Given the description of an element on the screen output the (x, y) to click on. 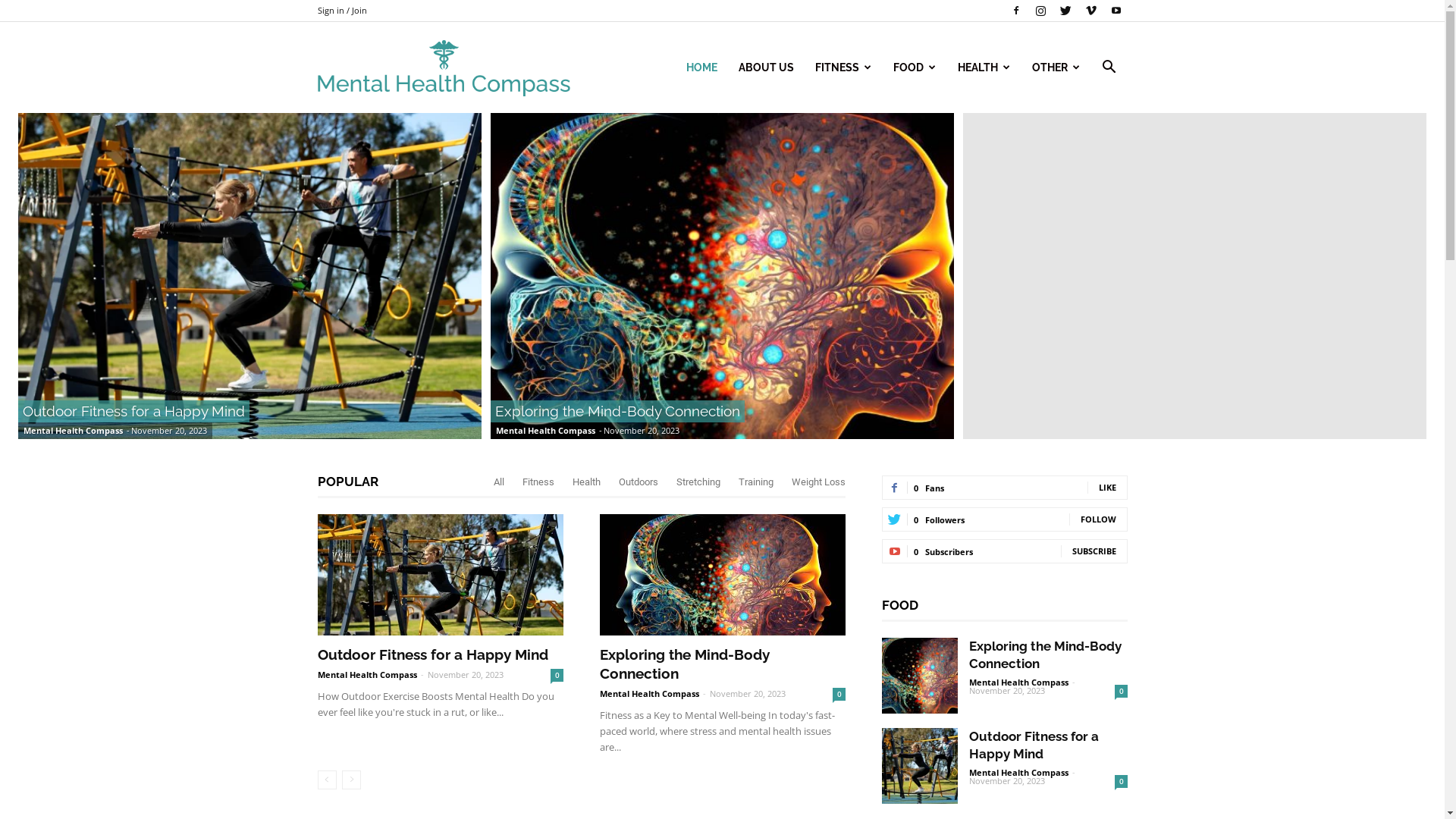
Outdoor Fitness for a Happy Mind Element type: hover (249, 275)
OTHER Element type: text (1055, 67)
Fitness Element type: text (537, 481)
Mental Health Compass Element type: text (366, 674)
Mental Health Compass Element type: text (648, 693)
FOLLOW Element type: text (1097, 518)
Exploring the Mind-Body Connection Element type: hover (919, 675)
LIKE Element type: text (1106, 486)
Mental Health Compass Element type: text (442, 67)
FOOD Element type: text (914, 67)
Mental Health Compass Element type: text (1018, 681)
0 Element type: text (556, 674)
Outdoor Fitness for a Happy Mind Element type: text (431, 654)
Mental Health Compass Element type: text (72, 430)
Exploring the Mind-Body Connection Element type: text (617, 410)
Outdoor Fitness for a Happy Mind Element type: hover (919, 765)
Exploring the Mind-Body Connection Element type: hover (721, 275)
Exploring the Mind-Body Connection Element type: text (1045, 654)
FITNESS Element type: text (842, 67)
Vimeo Element type: hover (1090, 10)
Exploring the Mind-Body Connection Element type: text (683, 663)
Outdoor Fitness for a Happy Mind Element type: text (133, 410)
Search Element type: text (1085, 140)
Outdoor Fitness for a Happy Mind Element type: hover (439, 574)
Outdoors Element type: text (638, 481)
0 Element type: text (1120, 690)
Youtube Element type: hover (1115, 10)
Exploring the Mind-Body Connection Element type: hover (721, 574)
Facebook Element type: hover (1015, 10)
0 Element type: text (1120, 781)
All Element type: text (497, 481)
Twitter Element type: hover (1065, 10)
ABOUT US Element type: text (766, 67)
Outdoor Fitness for a Happy Mind Element type: text (1033, 744)
0 Element type: text (838, 693)
Mental Health Compass Element type: text (545, 430)
Training Element type: text (755, 481)
Weight Loss Element type: text (818, 481)
Stretching Element type: text (698, 481)
HEALTH Element type: text (983, 67)
Instagram Element type: hover (1040, 10)
SUBSCRIBE Element type: text (1094, 550)
Mental Health Compass Element type: text (1018, 772)
HOME Element type: text (700, 67)
Sign in / Join Element type: text (341, 9)
Health Element type: text (585, 481)
Mental Health Compass Logo Element type: hover (442, 67)
